Given the description of an element on the screen output the (x, y) to click on. 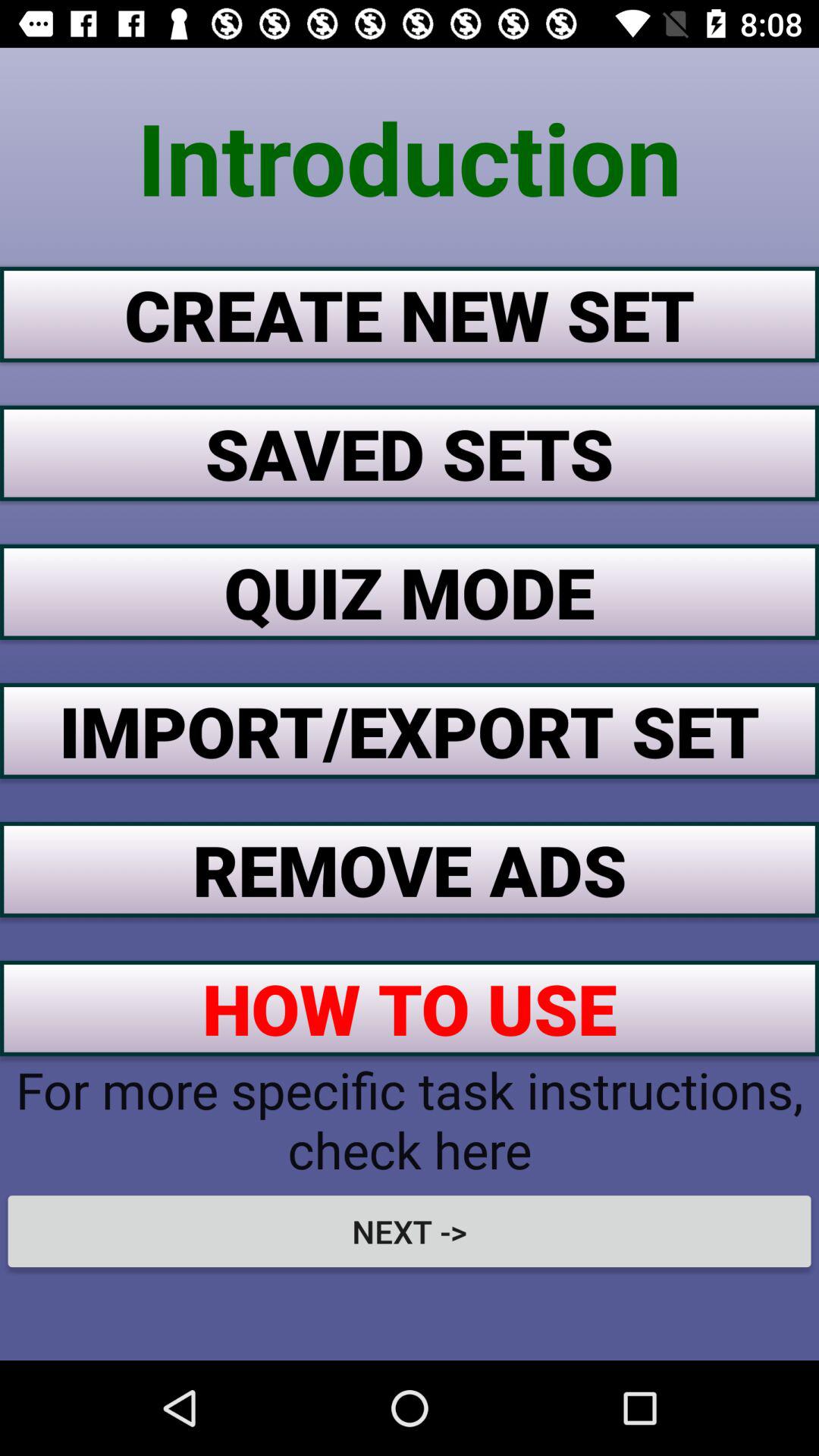
choose icon below the quiz mode icon (409, 730)
